Given the description of an element on the screen output the (x, y) to click on. 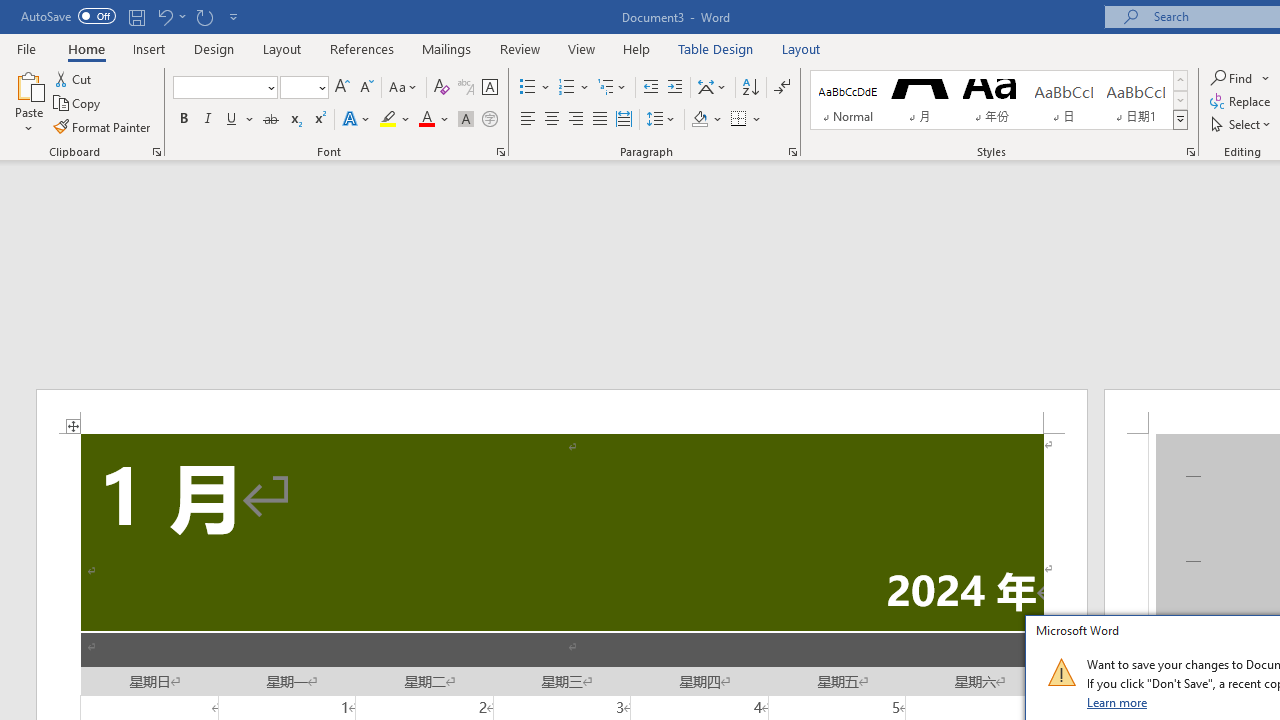
Learn more (1118, 702)
